Given the description of an element on the screen output the (x, y) to click on. 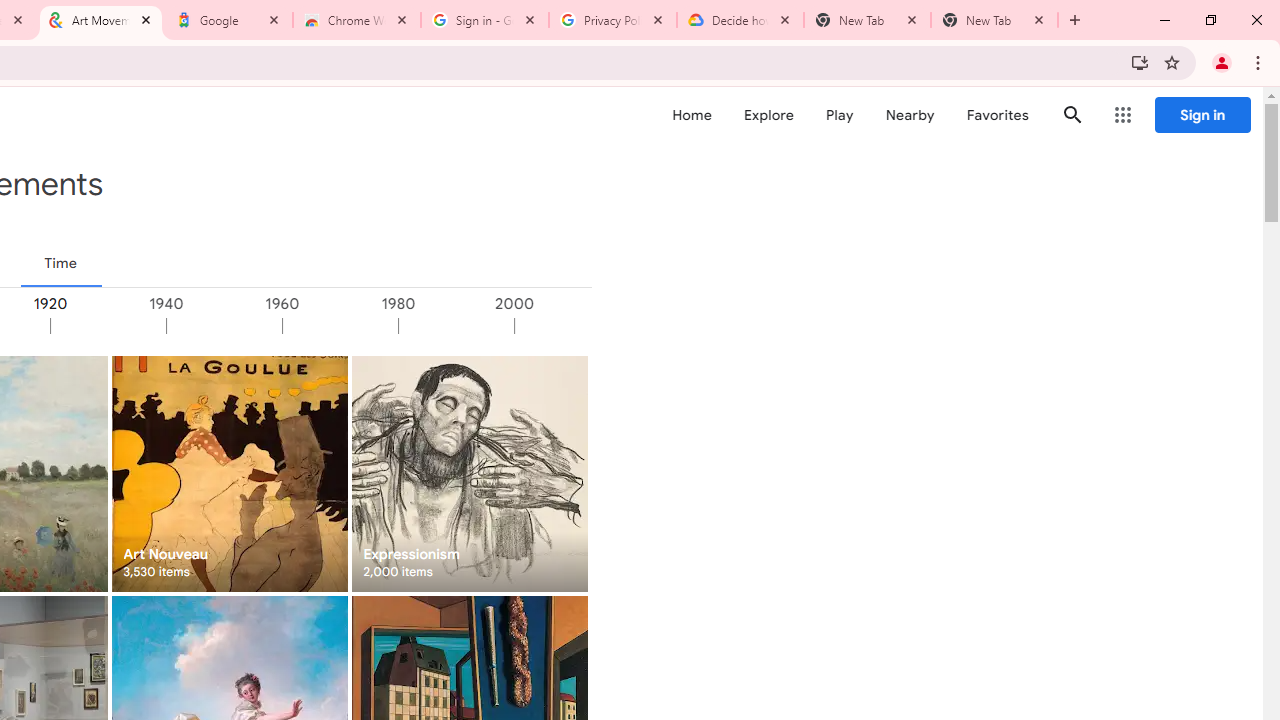
1980 (455, 326)
Play (840, 115)
Favorites (996, 115)
1960 (339, 326)
Explore (768, 115)
Google (229, 20)
Expressionism 2,000 items (468, 473)
Sign in - Google Accounts (485, 20)
